Given the description of an element on the screen output the (x, y) to click on. 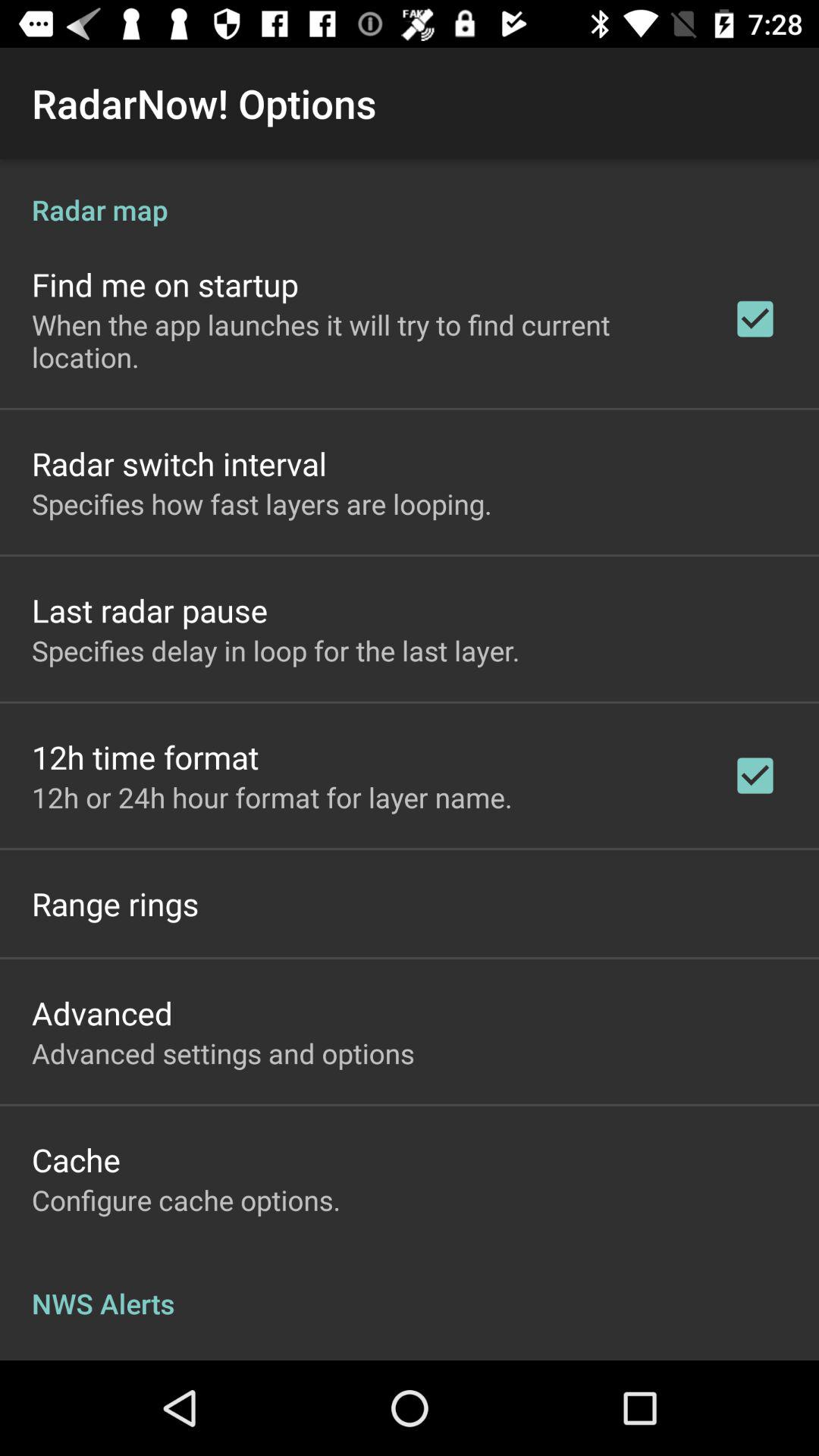
turn on specifies how fast (261, 503)
